Given the description of an element on the screen output the (x, y) to click on. 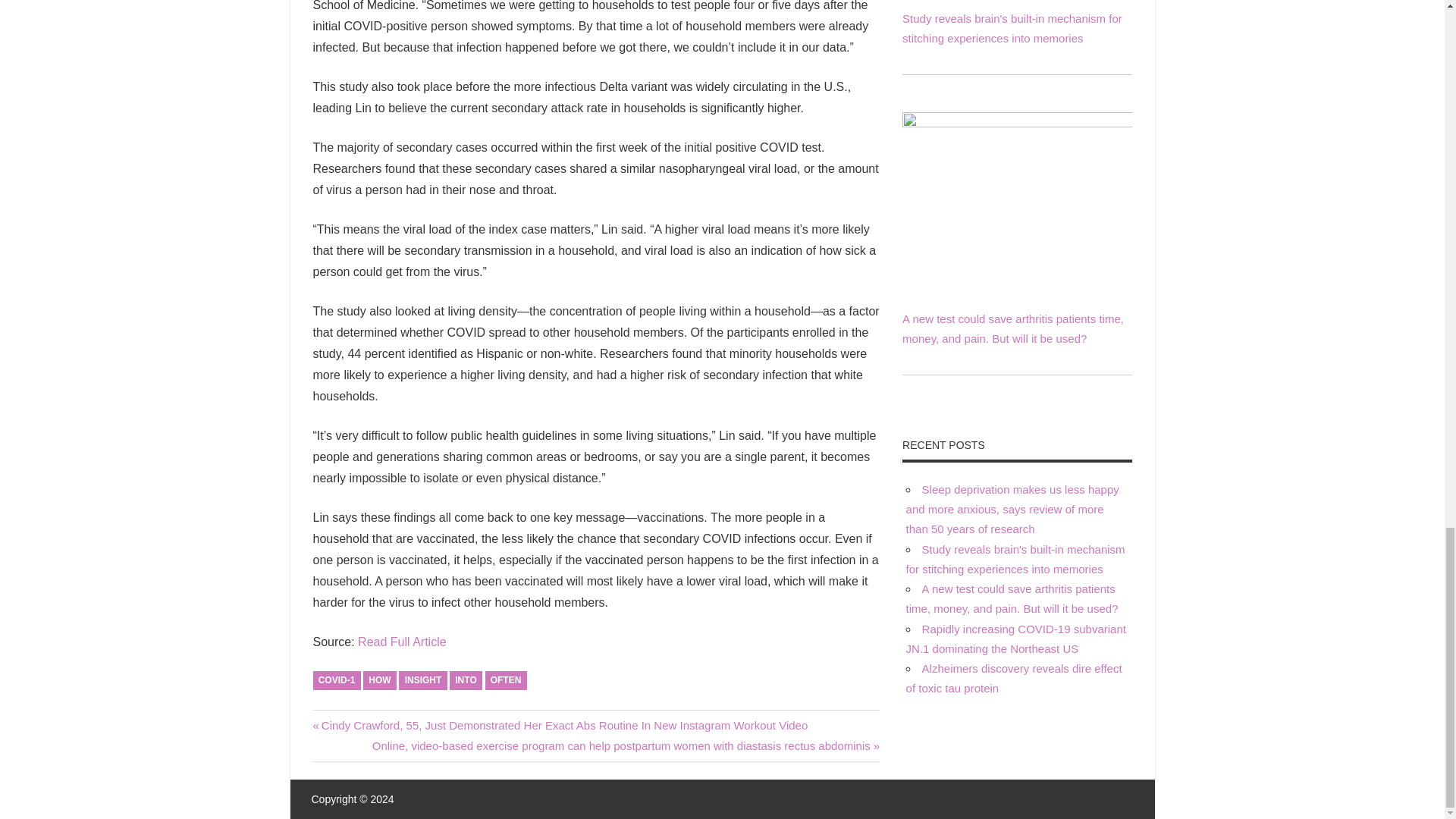
HOW (379, 680)
INTO (465, 680)
INSIGHT (422, 680)
Read Full Article (402, 641)
COVID-1 (336, 680)
OFTEN (505, 680)
